Given the description of an element on the screen output the (x, y) to click on. 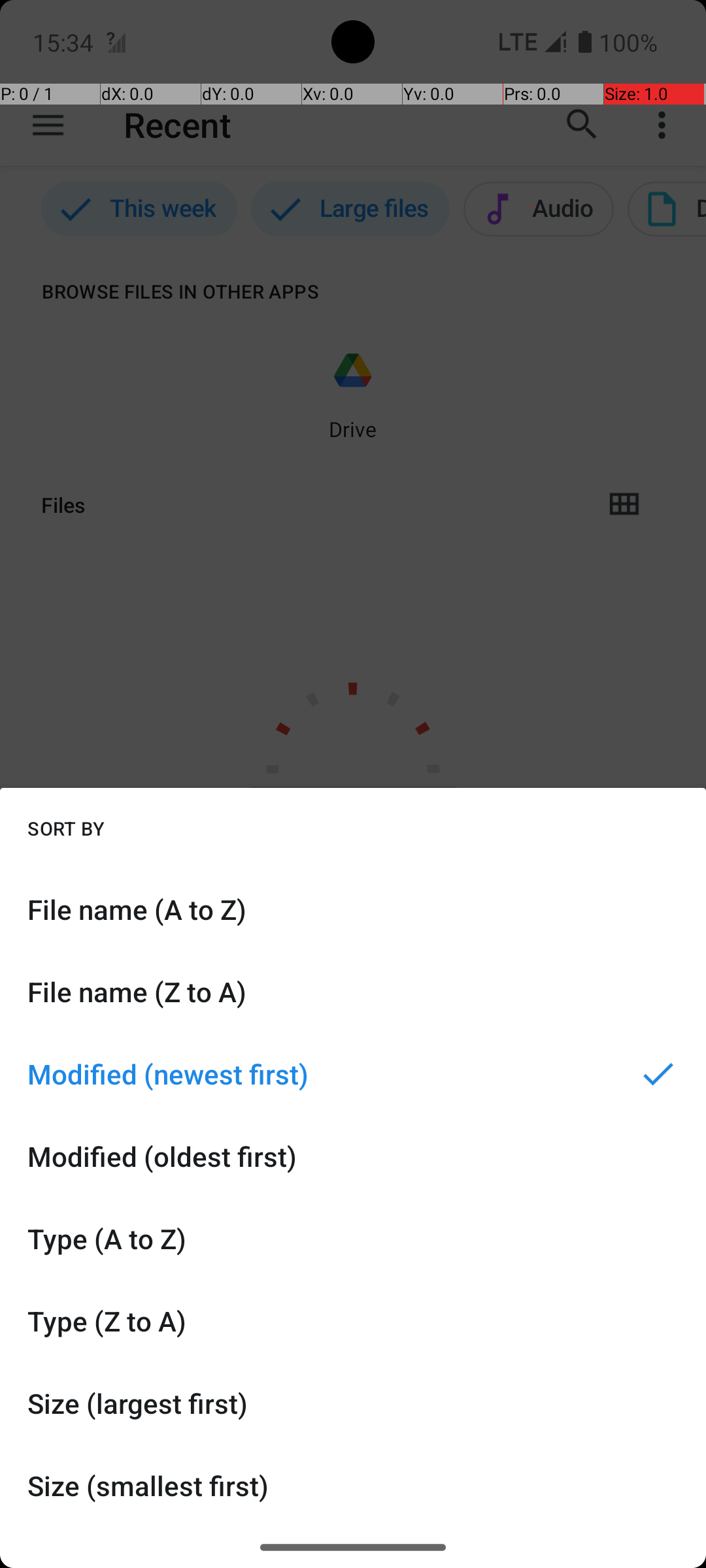
SORT BY Element type: android.widget.TextView (66, 827)
File name (A to Z) Element type: android.widget.CheckedTextView (353, 909)
File name (Z to A) Element type: android.widget.CheckedTextView (353, 991)
Modified (newest first) Element type: android.widget.CheckedTextView (353, 1073)
Modified (oldest first) Element type: android.widget.CheckedTextView (353, 1156)
Type (A to Z) Element type: android.widget.CheckedTextView (353, 1238)
Type (Z to A) Element type: android.widget.CheckedTextView (353, 1320)
Size (largest first) Element type: android.widget.CheckedTextView (353, 1403)
Size (smallest first) Element type: android.widget.CheckedTextView (353, 1485)
